Given the description of an element on the screen output the (x, y) to click on. 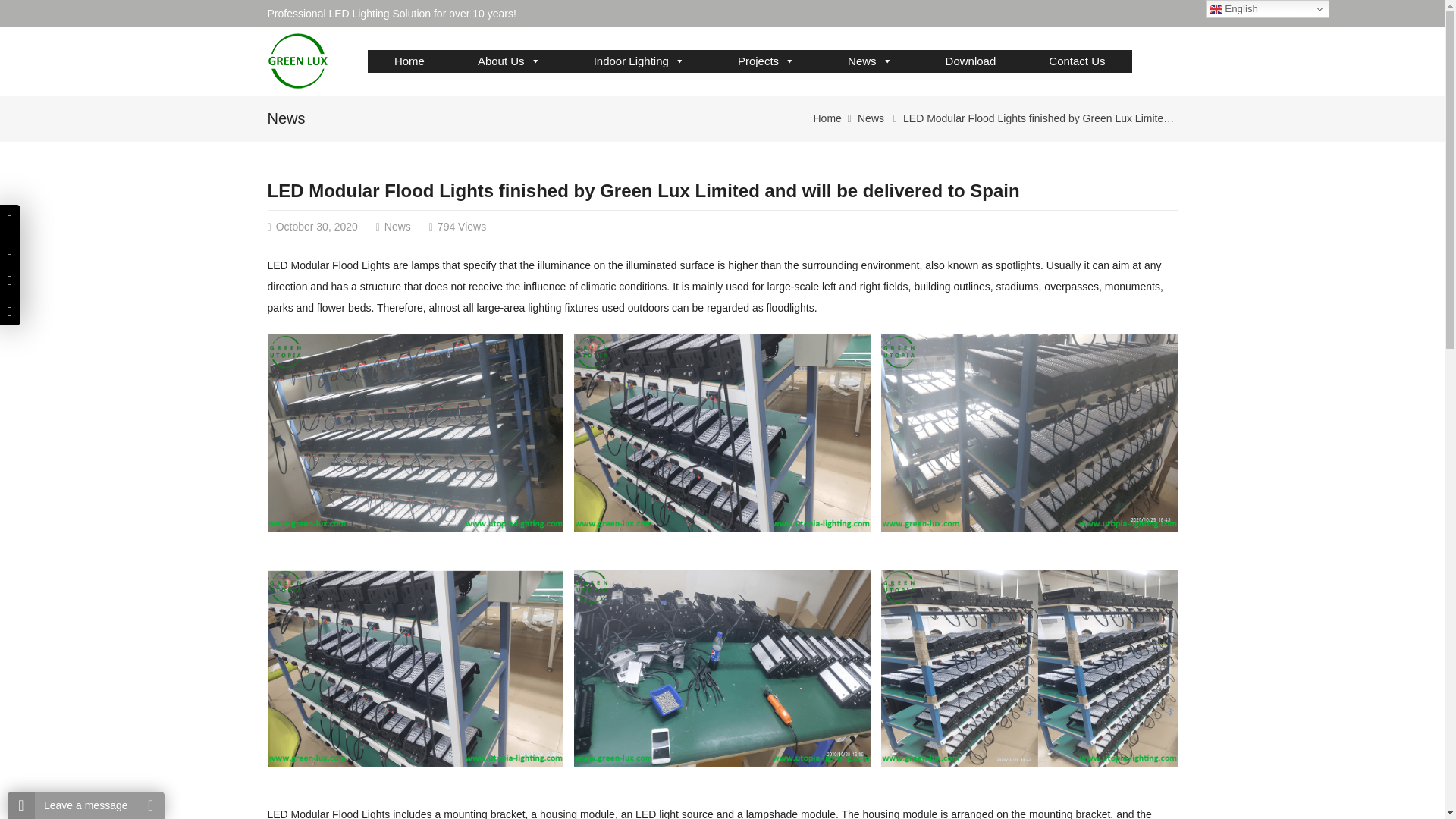
About Us (509, 60)
Indoor Lighting (639, 60)
Home (409, 60)
Professional LED Lighting Solution (296, 61)
